Given the description of an element on the screen output the (x, y) to click on. 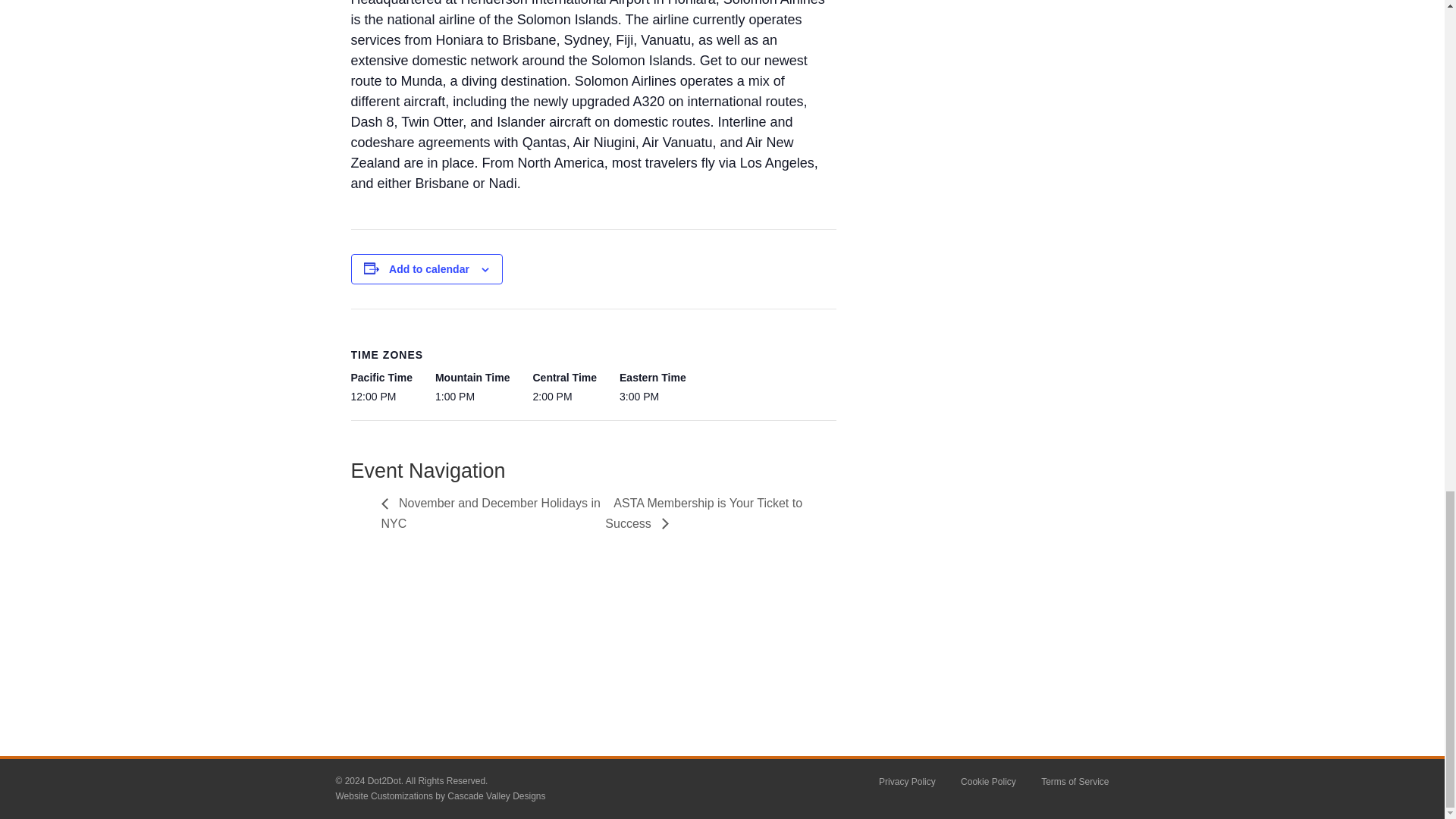
Cascade Valley Designs (495, 796)
Add to calendar (428, 268)
ASTA Membership is Your Ticket to Success (703, 512)
November and December Holidays in NYC (489, 512)
